Given the description of an element on the screen output the (x, y) to click on. 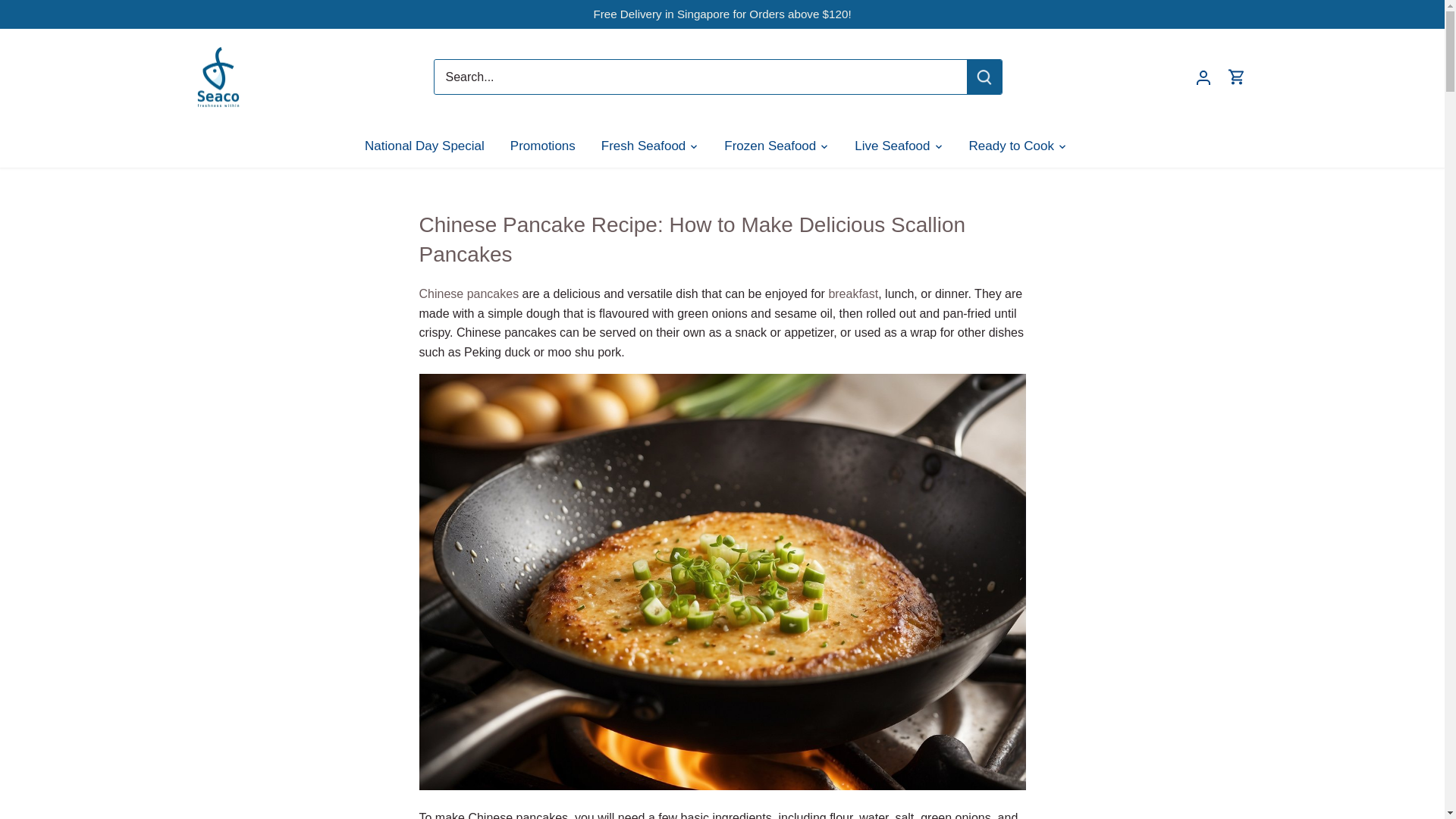
Frozen Seafood (769, 146)
Chinese pancakes (468, 293)
Ready to Cook (1011, 146)
Live Seafood (891, 146)
breakfast (852, 293)
National Day Special (431, 146)
Fresh Seafood (643, 146)
Promotions (542, 146)
